Given the description of an element on the screen output the (x, y) to click on. 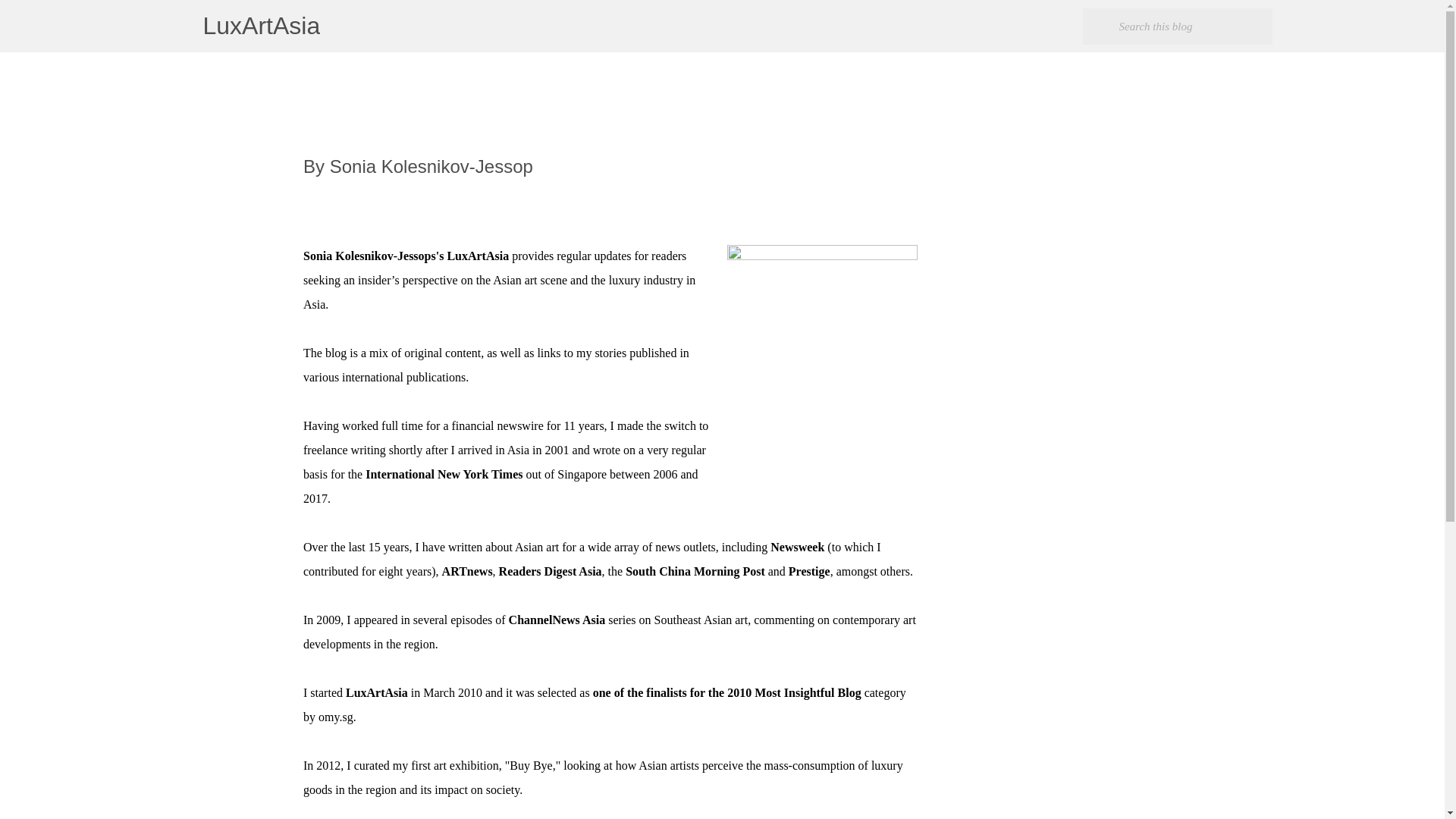
LuxArtAsia (261, 25)
